Given the description of an element on the screen output the (x, y) to click on. 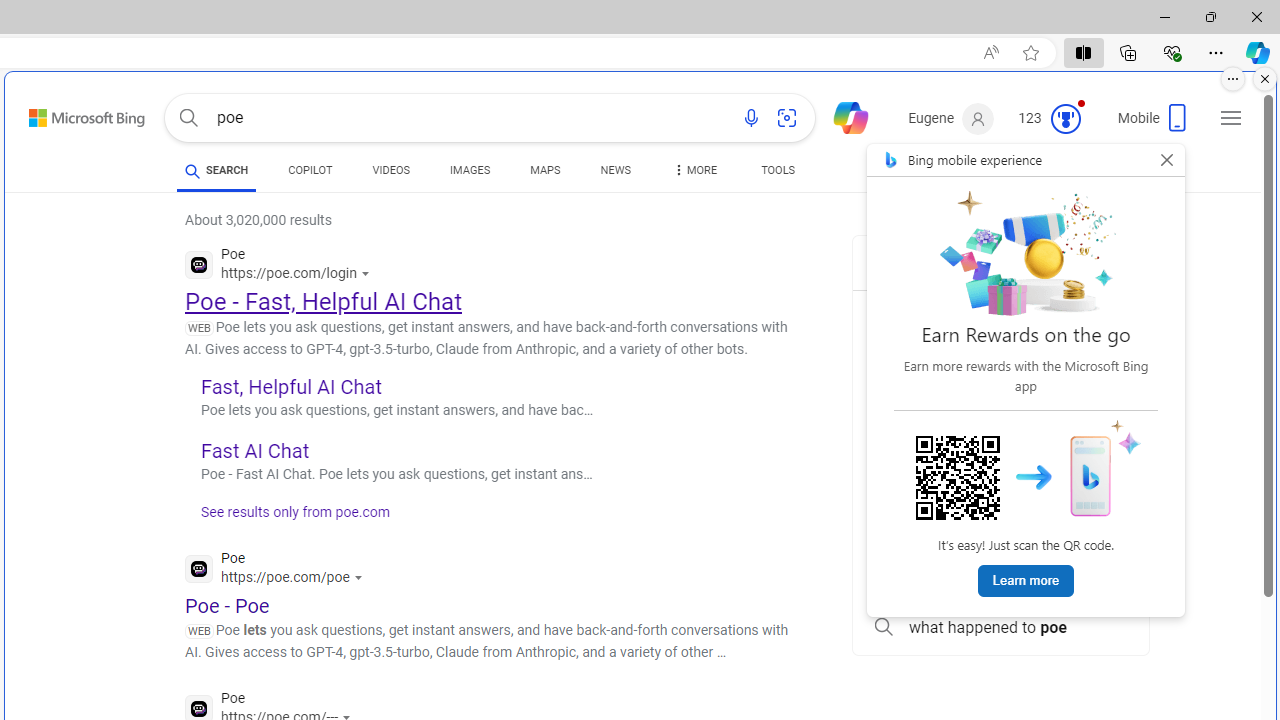
Settings and quick links (1231, 117)
poe website (1000, 582)
MORE (693, 173)
COPILOT (310, 173)
IMAGES (470, 170)
More options. (1233, 79)
poe pc (1000, 492)
Learn more about Microsoft Bing app (1025, 581)
See results only from poe.com (287, 517)
poe ++ standard (1000, 448)
Search using an image (787, 117)
